Given the description of an element on the screen output the (x, y) to click on. 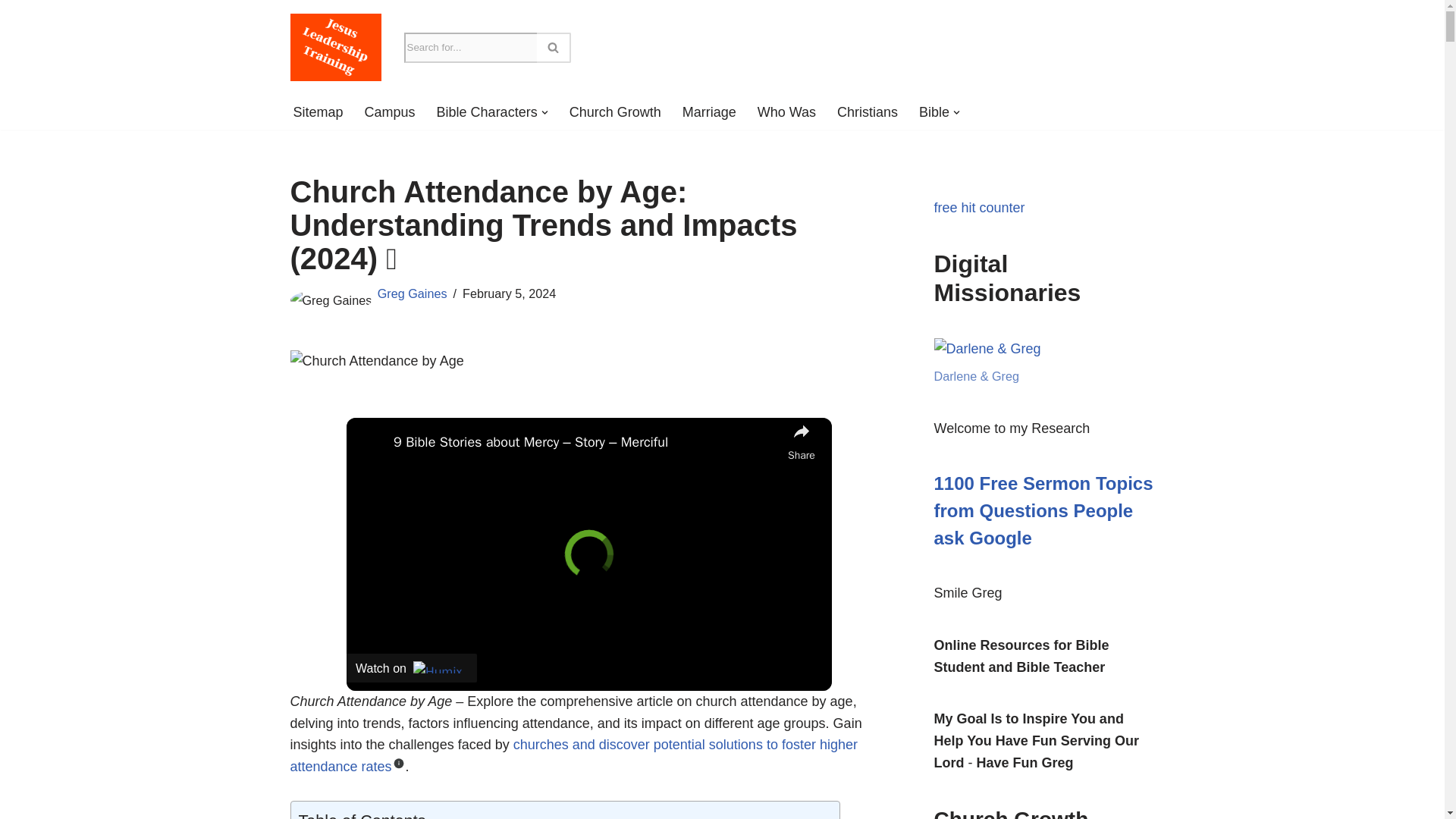
Marriage (709, 111)
Christians (867, 111)
Bible (933, 111)
Church Growth (615, 111)
Campus (389, 111)
Skip to content (11, 31)
Who Was (786, 111)
Bible Characters (486, 111)
Posts by Greg Gaines (411, 293)
Sitemap (317, 111)
